Given the description of an element on the screen output the (x, y) to click on. 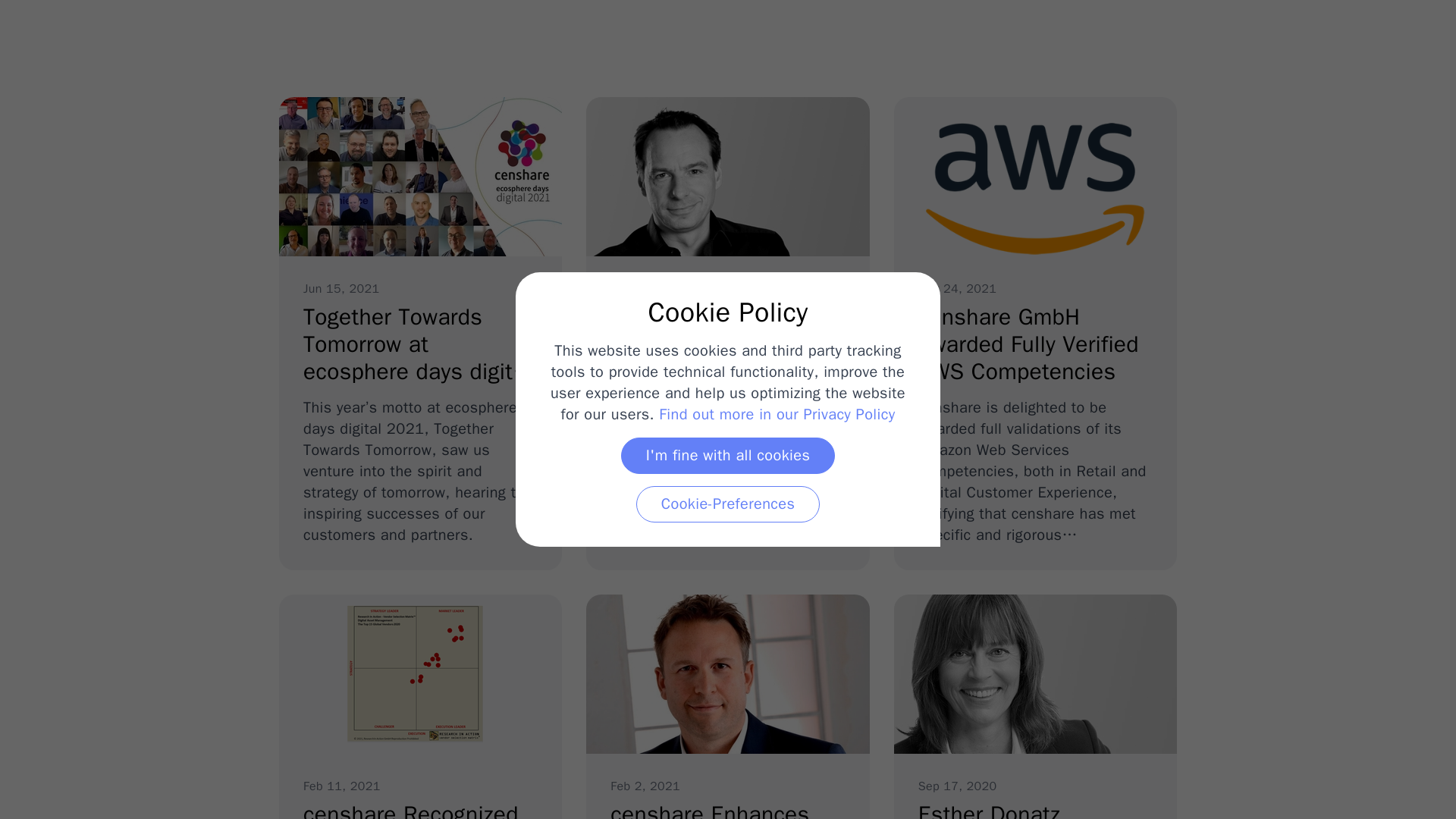
I'm fine with all cookies (728, 455)
Find out more in our Privacy Policy (1034, 706)
Cookie-Preferences (777, 414)
